Given the description of an element on the screen output the (x, y) to click on. 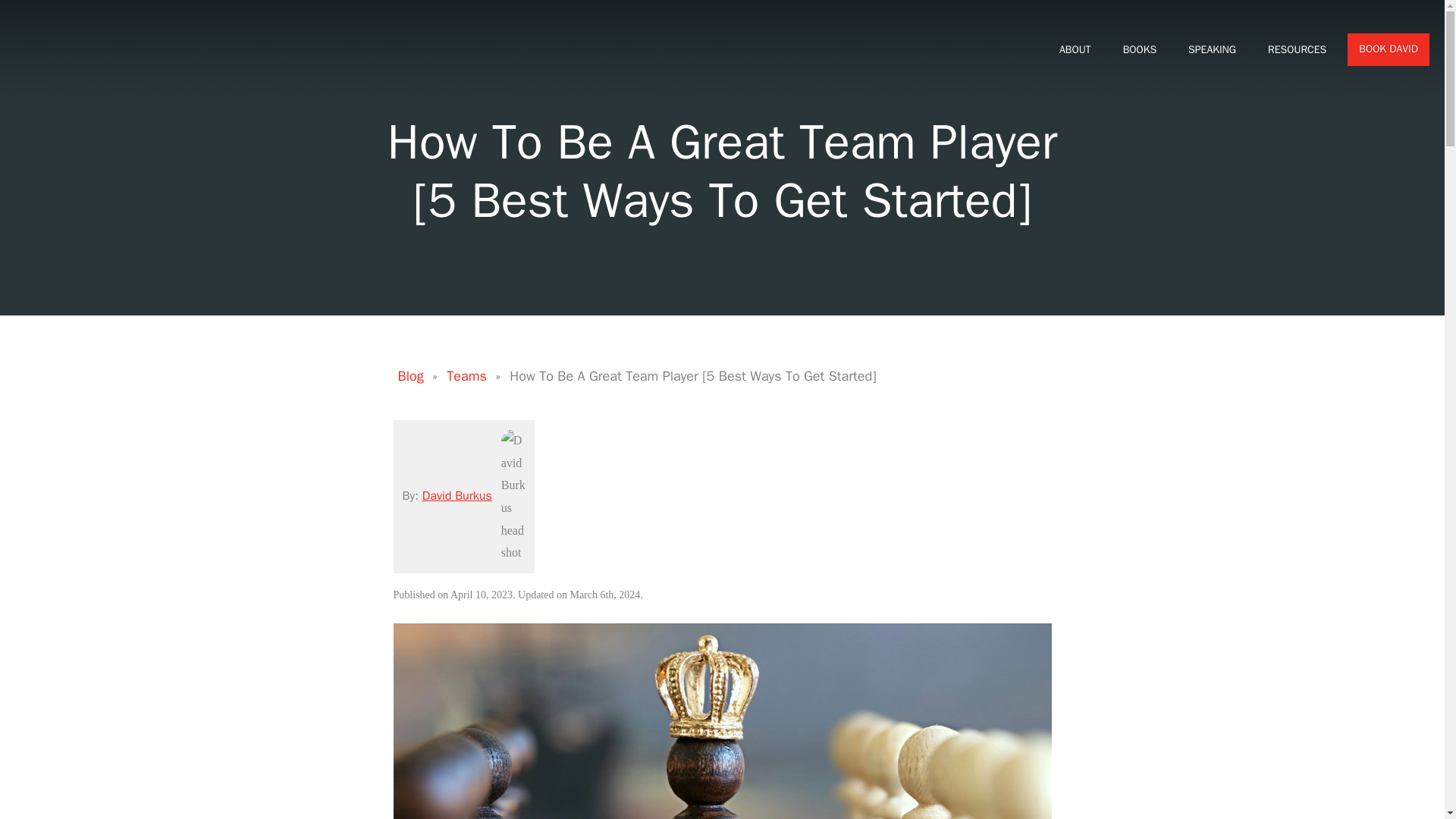
SPEAKING (1211, 49)
BOOKS (1139, 49)
Book David for a speaking engagement (1388, 49)
BOOK DAVID (1388, 49)
Teams (467, 376)
RESOURCES (1296, 49)
Posts by David Burkus (457, 495)
David Burkus (457, 495)
